Given the description of an element on the screen output the (x, y) to click on. 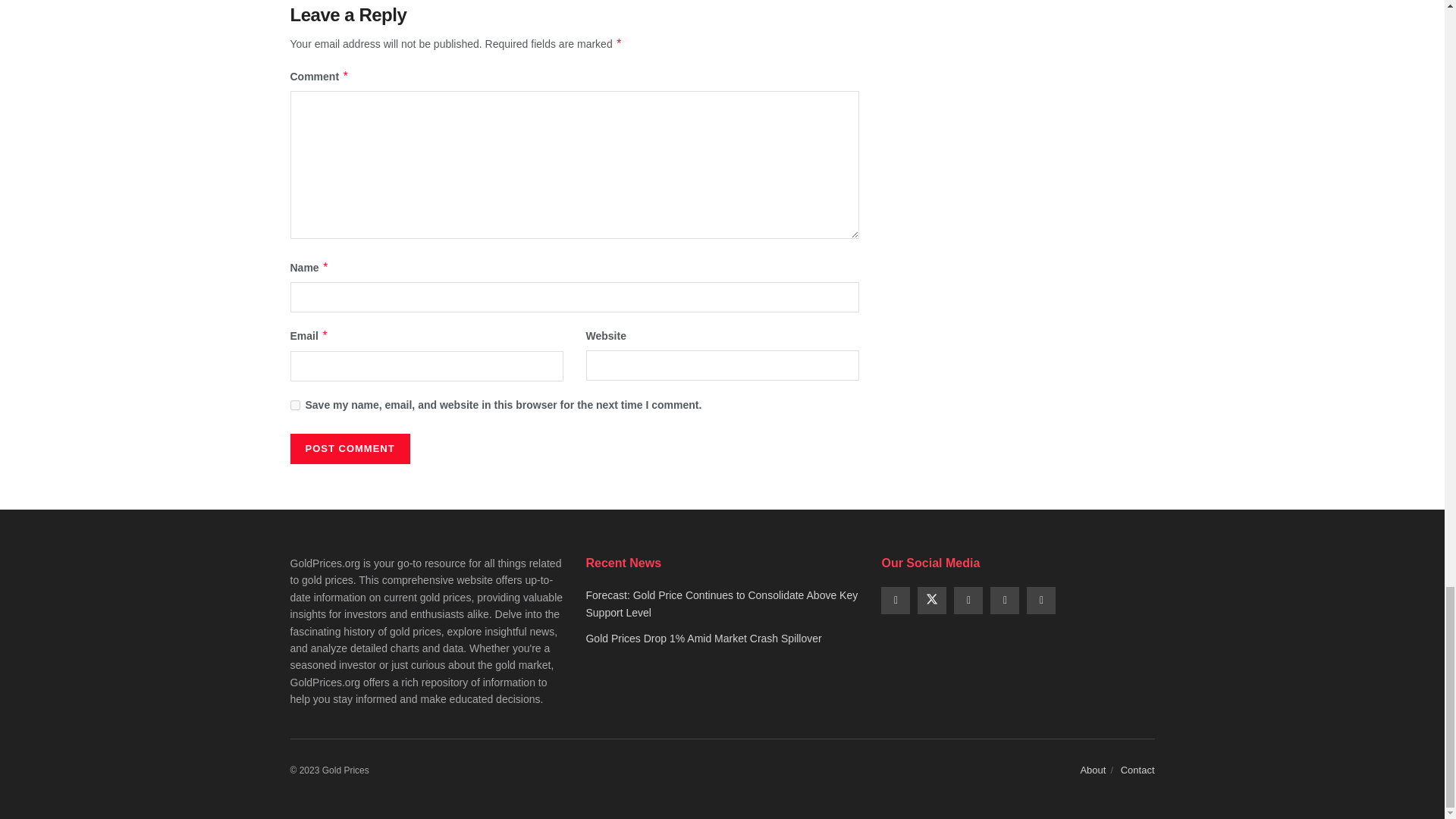
Post Comment (349, 449)
yes (294, 404)
